Given the description of an element on the screen output the (x, y) to click on. 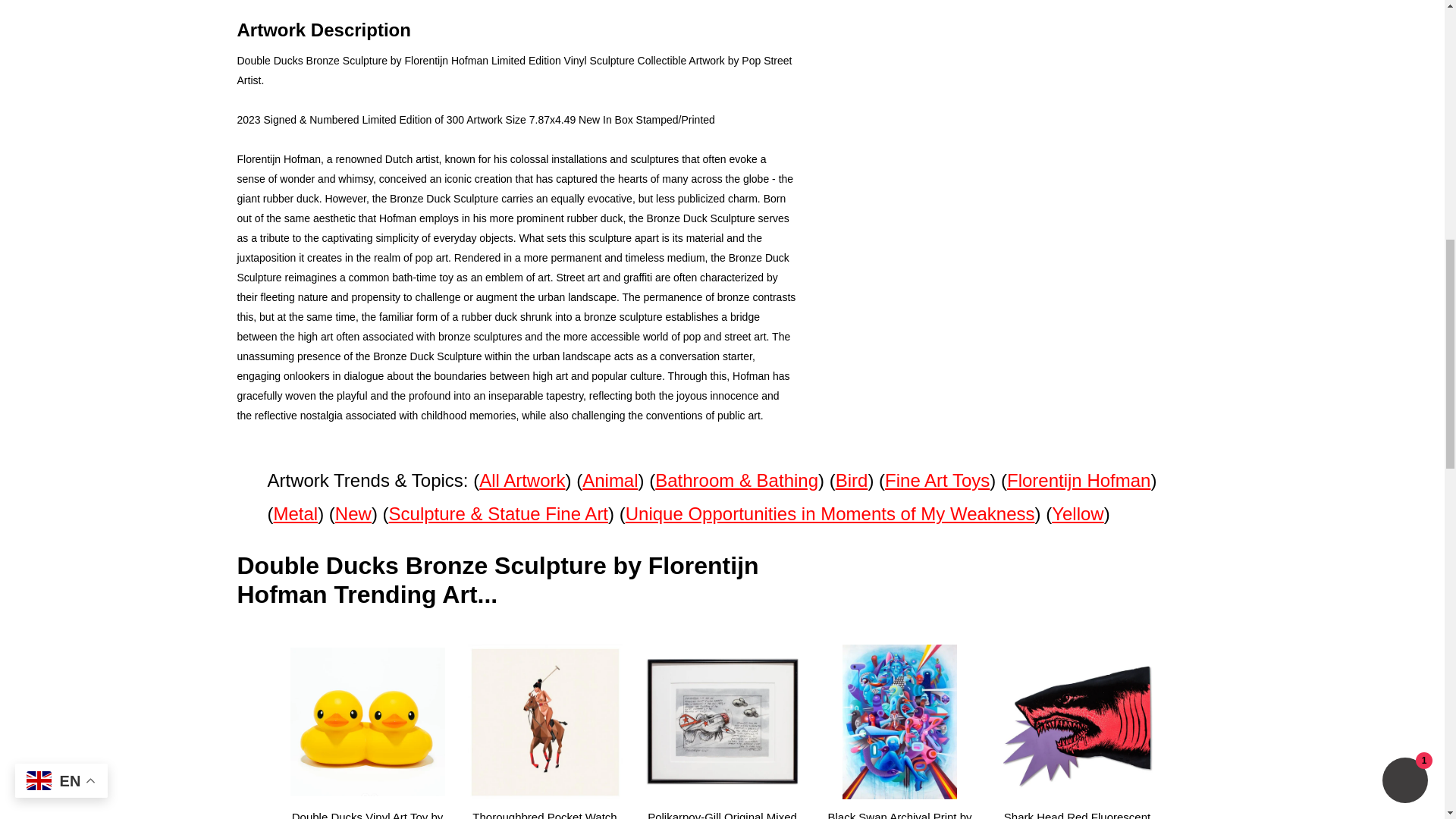
Black Swan Archival Print by Doze Green (899, 809)
Double Ducks Vinyl Art Toy by Florentijn Hofman (366, 809)
Polikarpov-Gill Original Mixed Media Drawing (722, 809)
Shark Head Red Fluorescent HPM Wood Print by Shark Toof (1076, 809)
